Given the description of an element on the screen output the (x, y) to click on. 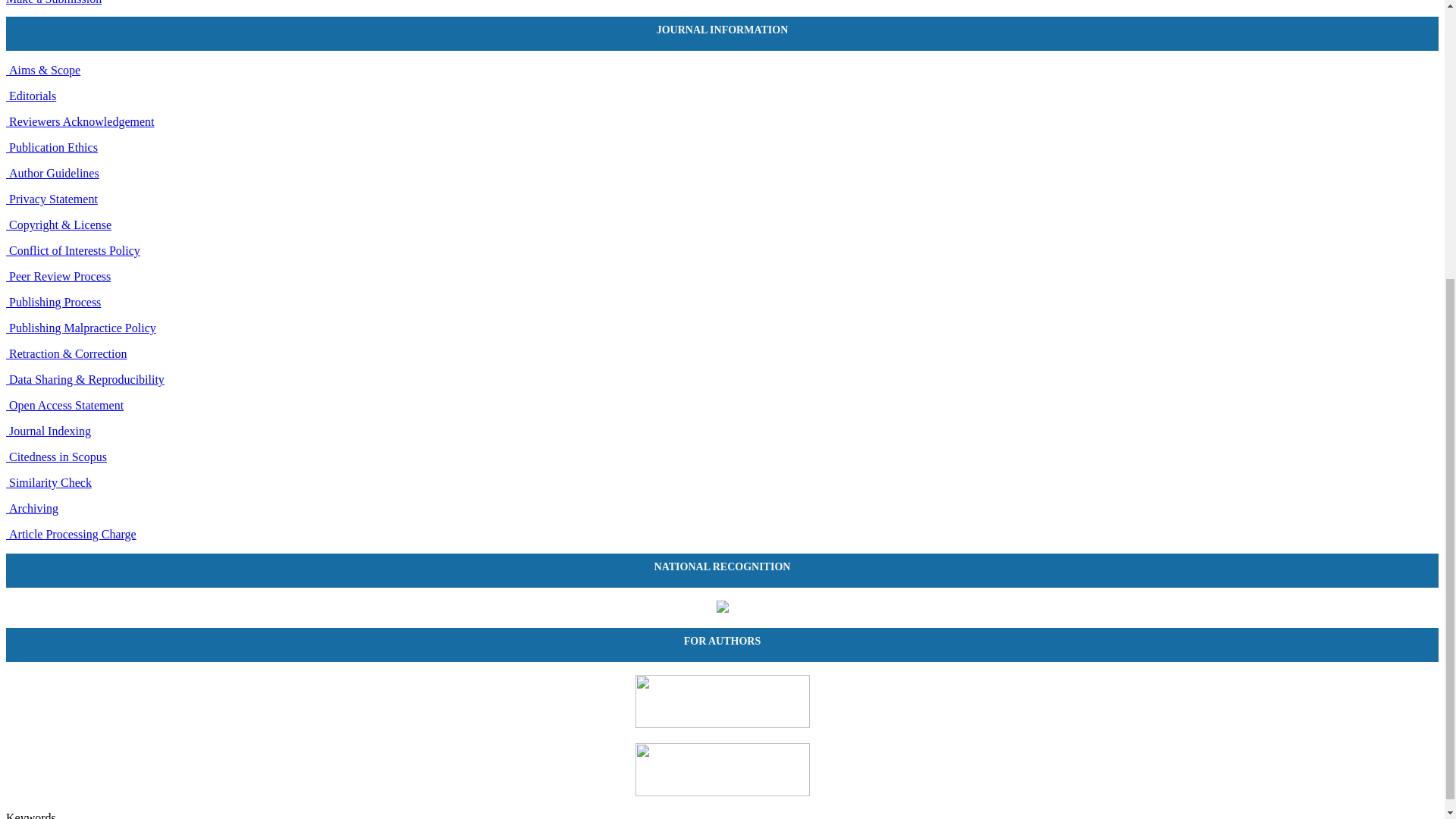
Make a Submission (53, 2)
Peer Review Process (57, 276)
Sinta 2 (722, 608)
Journal Indexing (47, 431)
 Similarity Check (48, 481)
 Publication Ethics (51, 146)
Template for 2022 onwards (721, 723)
 Publishing Process (52, 301)
 Archiving (31, 508)
 Publishing Malpractice Policy (80, 327)
 Privacy Statement (51, 198)
 Peer Review Process (57, 276)
 Journal Indexing (47, 431)
 Open Access Statement (64, 404)
Publishing Malpractice Policy (80, 327)
